Given the description of an element on the screen output the (x, y) to click on. 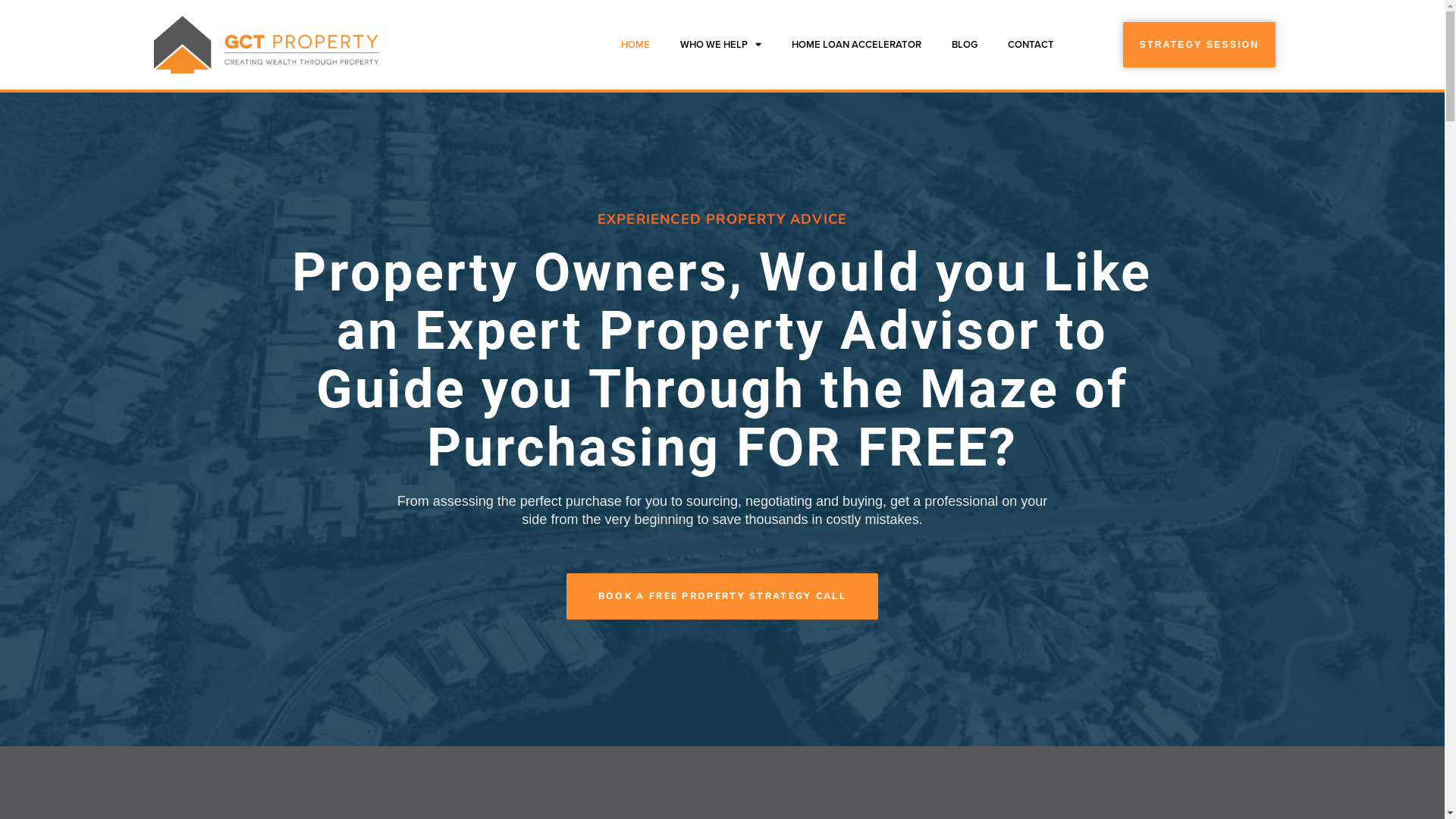
CONTACT Element type: text (1030, 44)
HOME Element type: text (635, 44)
BOOK A FREE PROPERTY STRATEGY CALL Element type: text (722, 596)
STRATEGY SESSION Element type: text (1199, 44)
HOME LOAN ACCELERATOR Element type: text (856, 44)
WHO WE HELP Element type: text (720, 44)
BLOG Element type: text (964, 44)
